Given the description of an element on the screen output the (x, y) to click on. 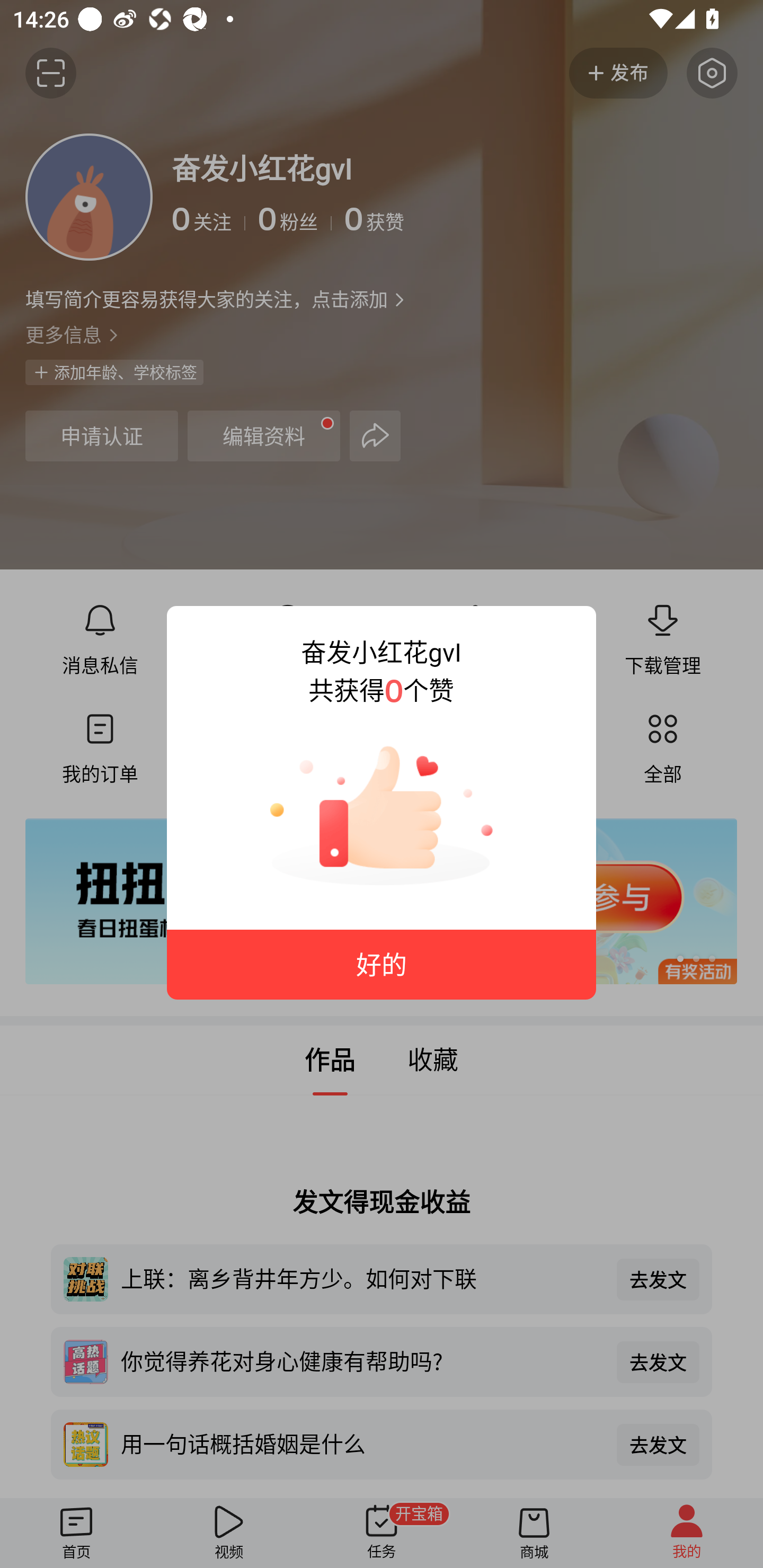
好的 (381, 964)
